Given the description of an element on the screen output the (x, y) to click on. 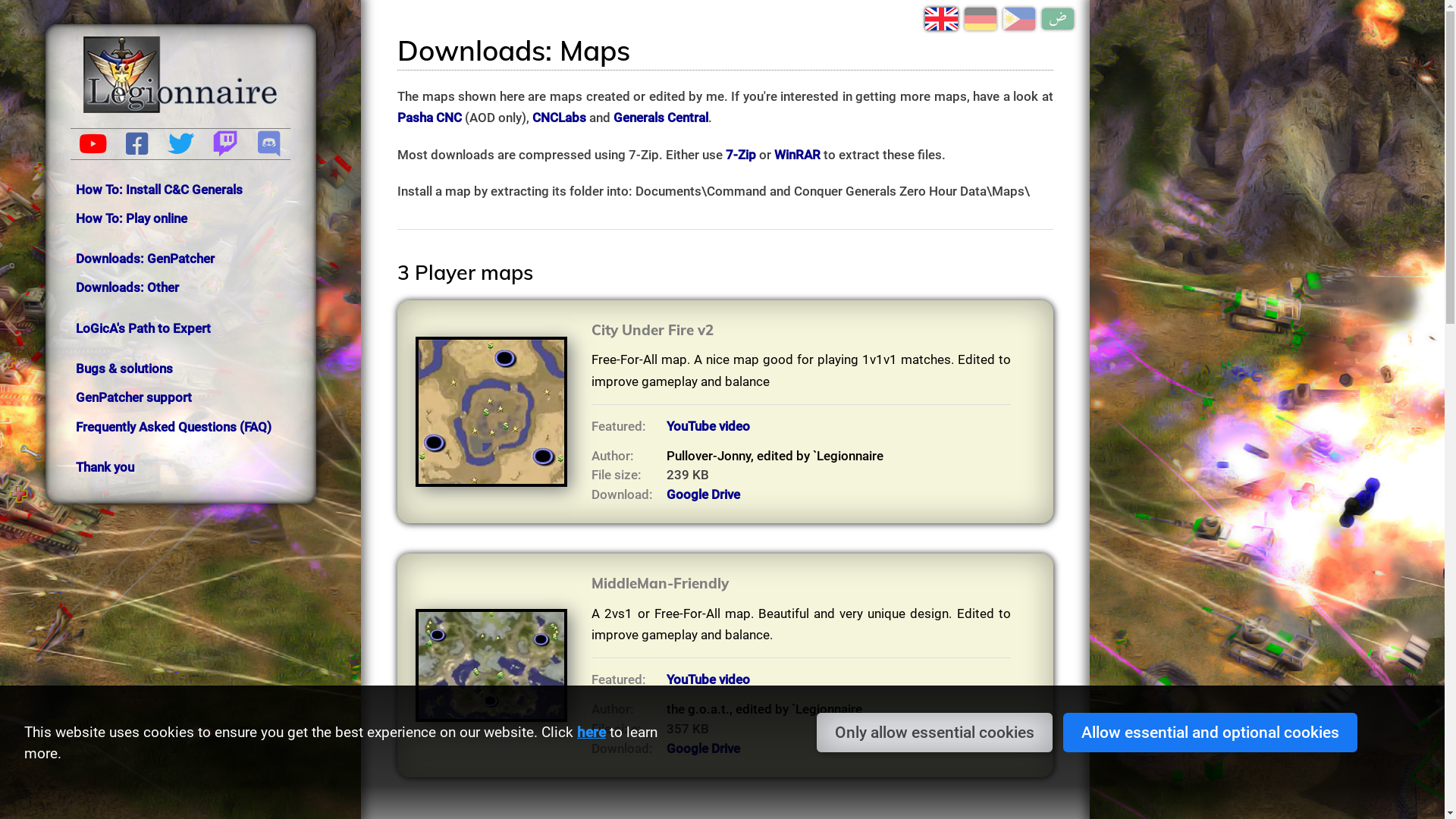
here Element type: text (591, 732)
How To: Install C&C Generals Element type: text (158, 189)
Generals Central Element type: text (660, 117)
GenPatcher support Element type: text (133, 396)
YouTube video Element type: text (707, 679)
Facebook Element type: hover (136, 144)
Deutsch Element type: hover (980, 18)
Google Drive Element type: text (703, 748)
LoGicA's Path to Expert Element type: text (142, 327)
Downloads: Other Element type: text (126, 286)
Twitch Element type: hover (224, 144)
Twitter Element type: hover (180, 144)
Legionnaire Generals Element type: hover (180, 74)
Google Drive Element type: text (703, 494)
Pasha CNC Element type: text (429, 117)
WinRAR Element type: text (797, 154)
English Element type: hover (941, 18)
Downloads: GenPatcher Element type: text (144, 258)
Filipino Element type: hover (1019, 18)
YouTube video Element type: text (707, 425)
Bugs & solutions Element type: text (123, 368)
YouTube Element type: hover (92, 144)
CNCLabs Element type: text (559, 117)
Frequently Asked Questions (FAQ) Element type: text (173, 426)
Only allow essential cookies Element type: text (934, 732)
Thank you Element type: text (104, 466)
How To: Play online Element type: text (131, 217)
Allow essential and optional cookies Element type: text (1210, 732)
Discord Element type: hover (268, 144)
7-Zip Element type: text (740, 154)
